Given the description of an element on the screen output the (x, y) to click on. 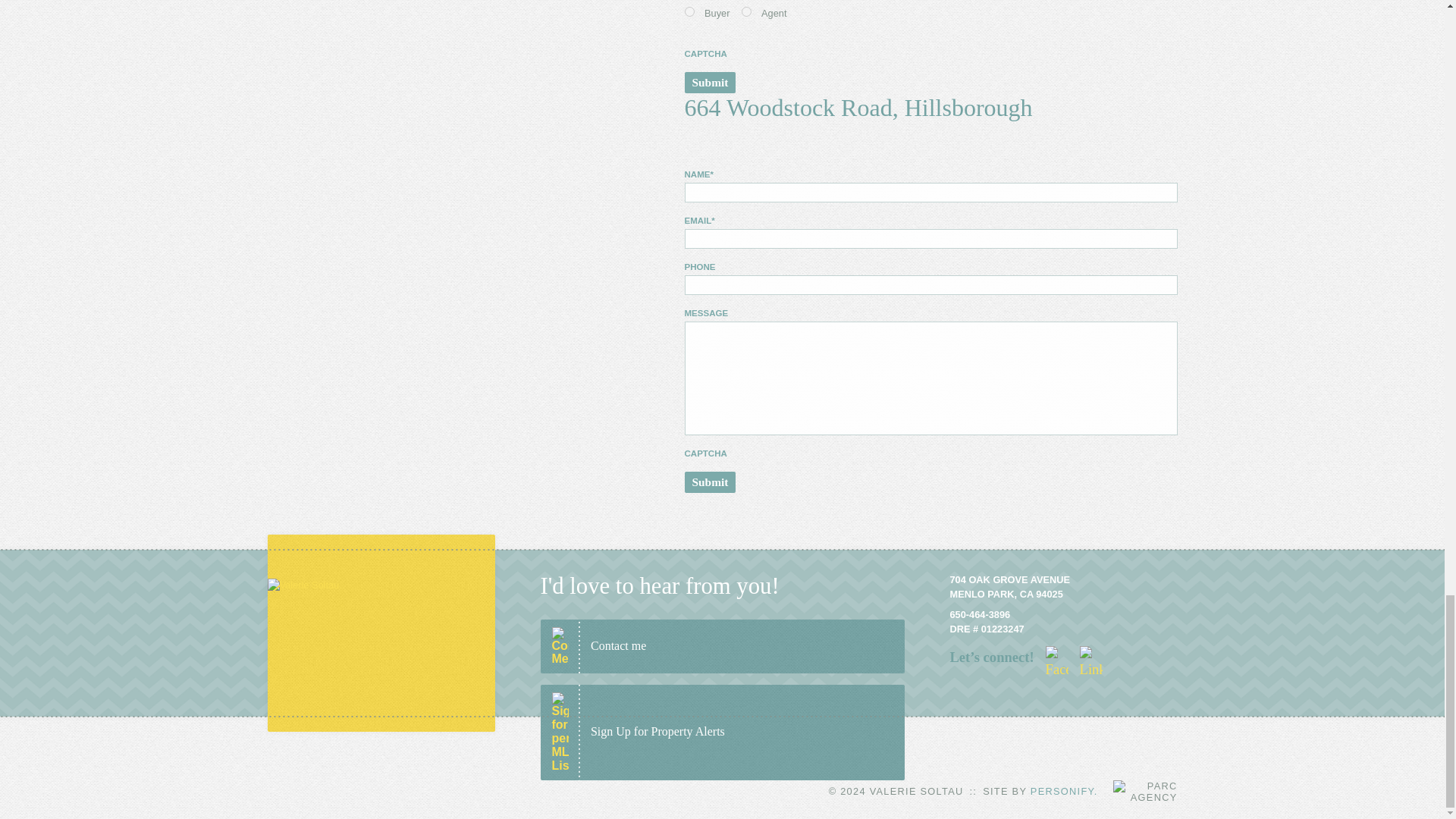
Agent (746, 11)
Contact me (722, 646)
Submit (709, 482)
Submit (709, 82)
Buyer (689, 11)
Sign Up for Property Alerts (722, 732)
Submit (709, 482)
Submit (709, 82)
